Given the description of an element on the screen output the (x, y) to click on. 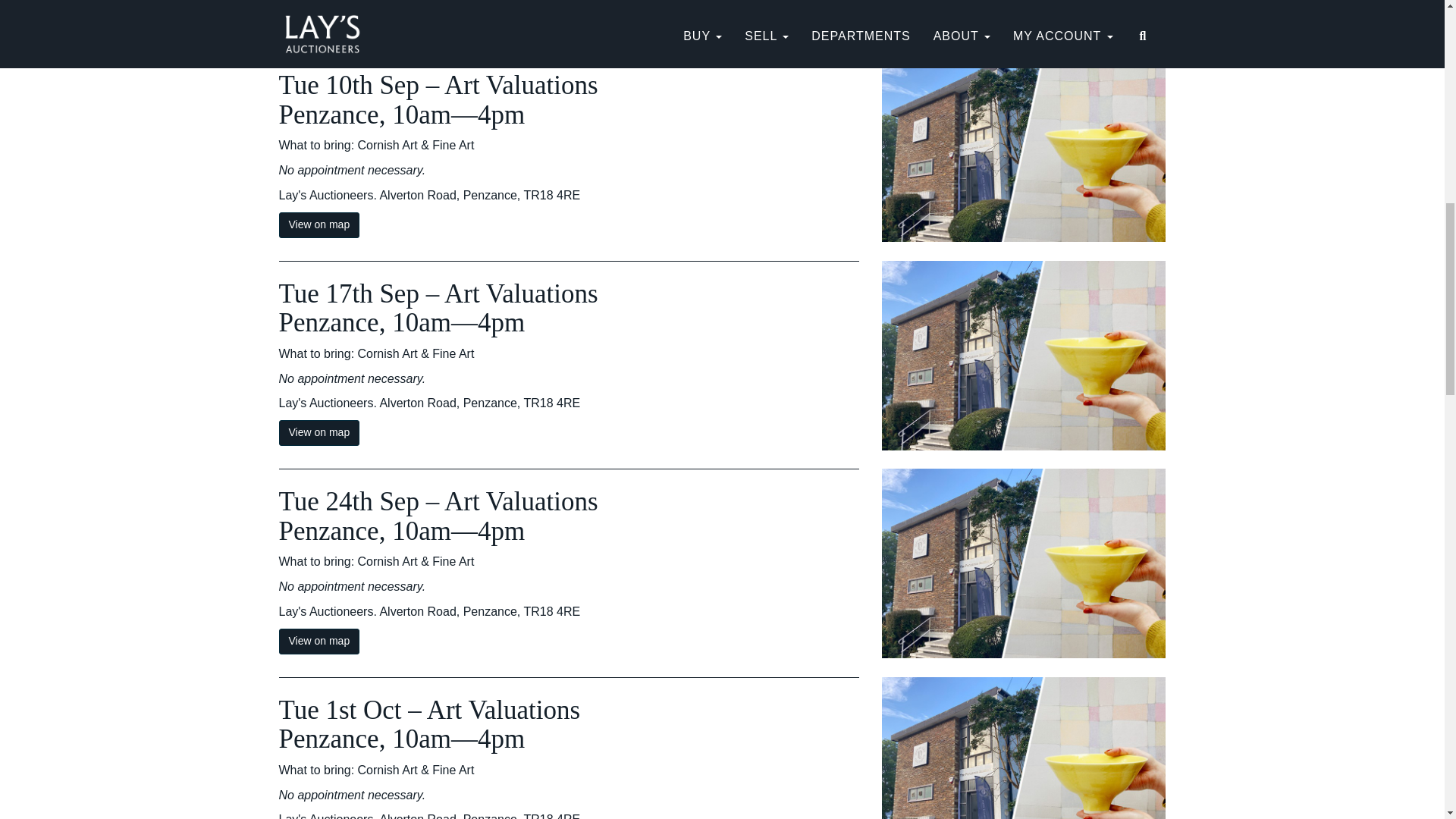
Lay's Auctioneers Penzance (319, 432)
Lay's Auctioneers Penzance (319, 225)
View on map (319, 225)
View on map (319, 16)
View on map (319, 641)
View on map (319, 432)
Lay's Auctioneers Penzance (319, 641)
Lay's Auctioneers Penzance (319, 16)
